Given the description of an element on the screen output the (x, y) to click on. 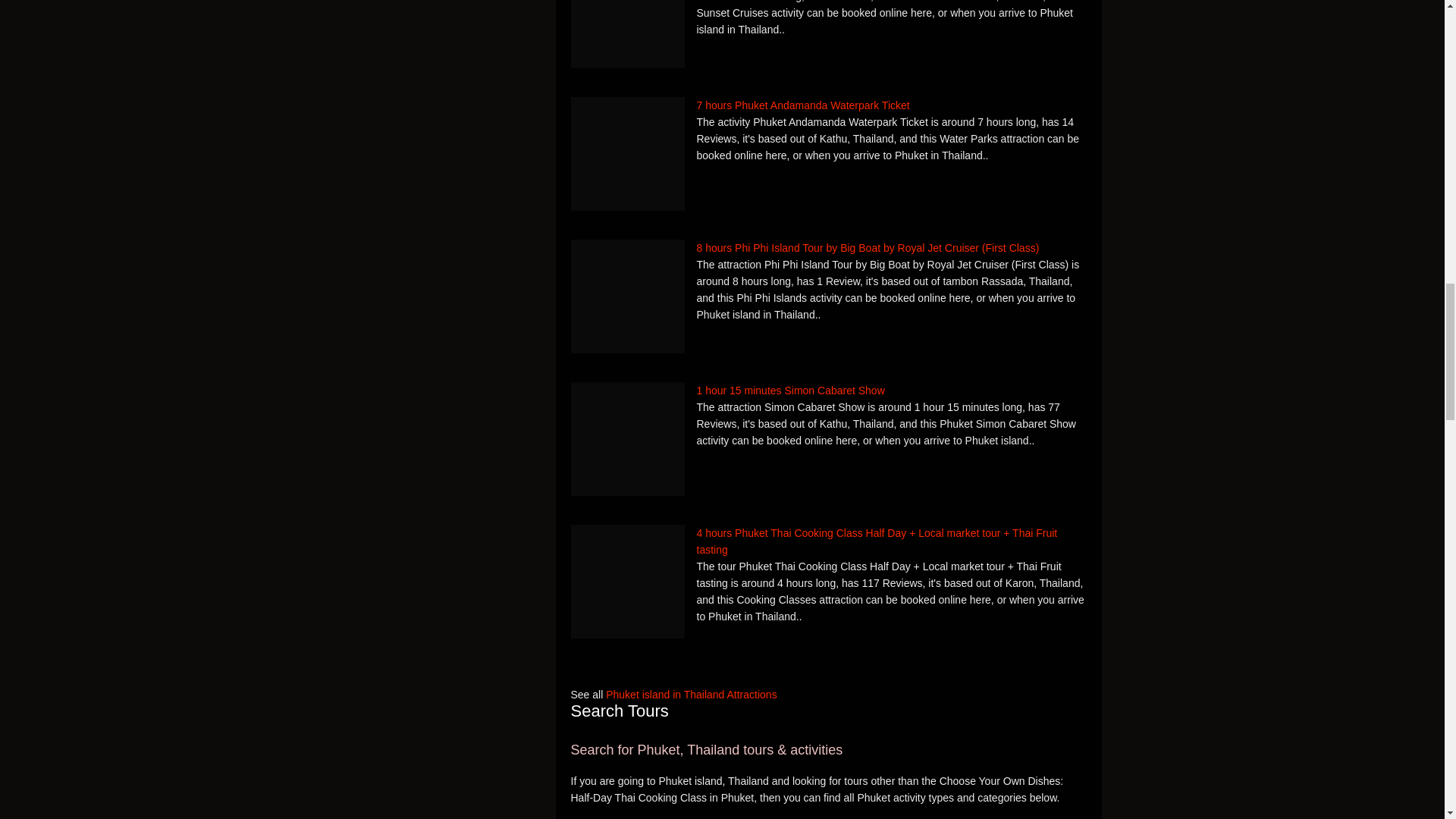
1 hour 15 minutes Simon Cabaret Show (828, 390)
Phuket Andamanda Waterpark Ticket - Water Parks (627, 153)
7 hours Phuket Andamanda Waterpark Ticket (828, 105)
